Given the description of an element on the screen output the (x, y) to click on. 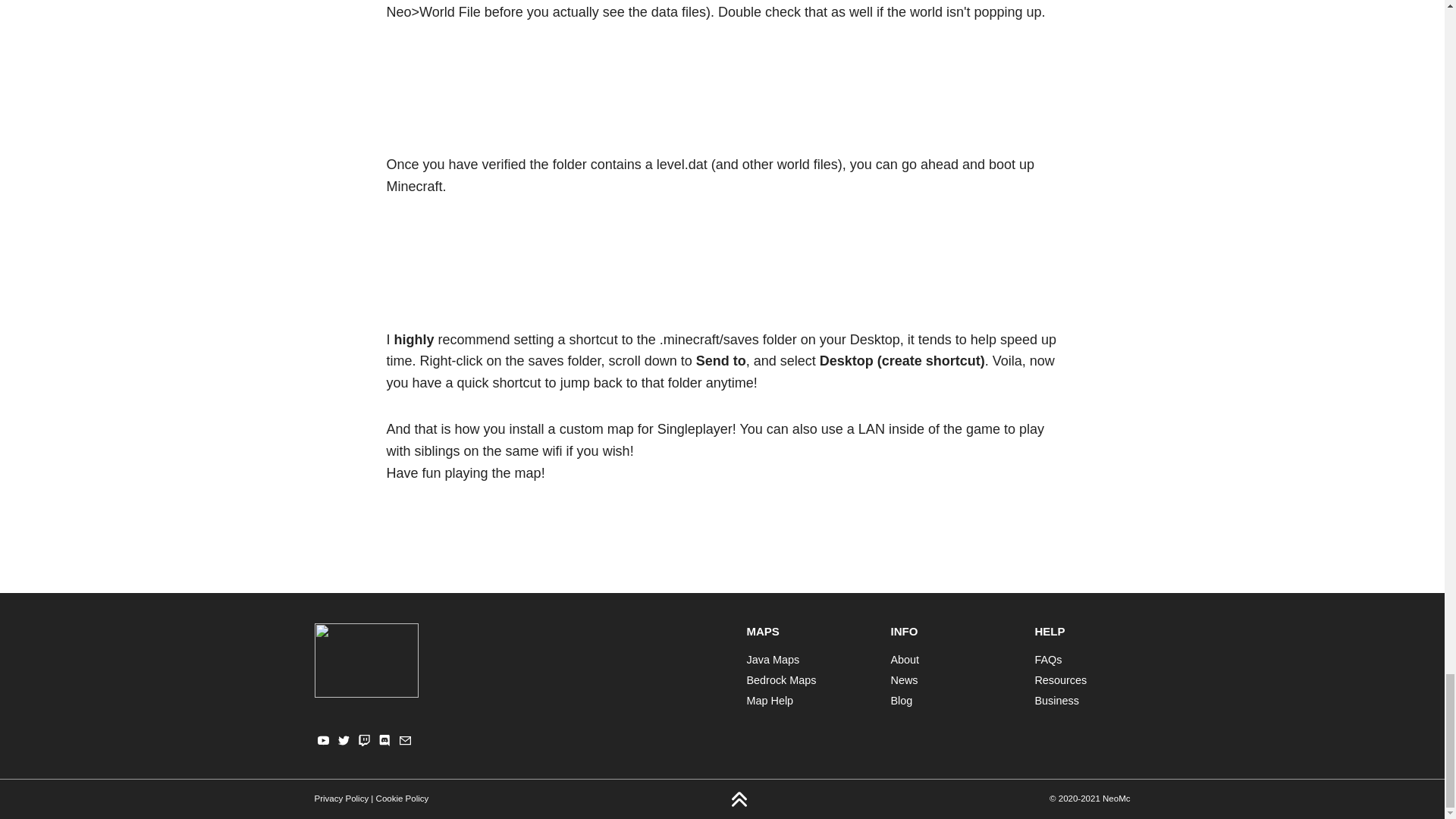
arrow-button-up-1 (739, 798)
FAQs (1047, 659)
Resources (1059, 680)
News (903, 680)
Map Help (769, 700)
Up to the top (739, 798)
Bedrock Maps (780, 680)
Java Maps (772, 659)
Blog (900, 700)
About (903, 659)
Business (1055, 700)
